Given the description of an element on the screen output the (x, y) to click on. 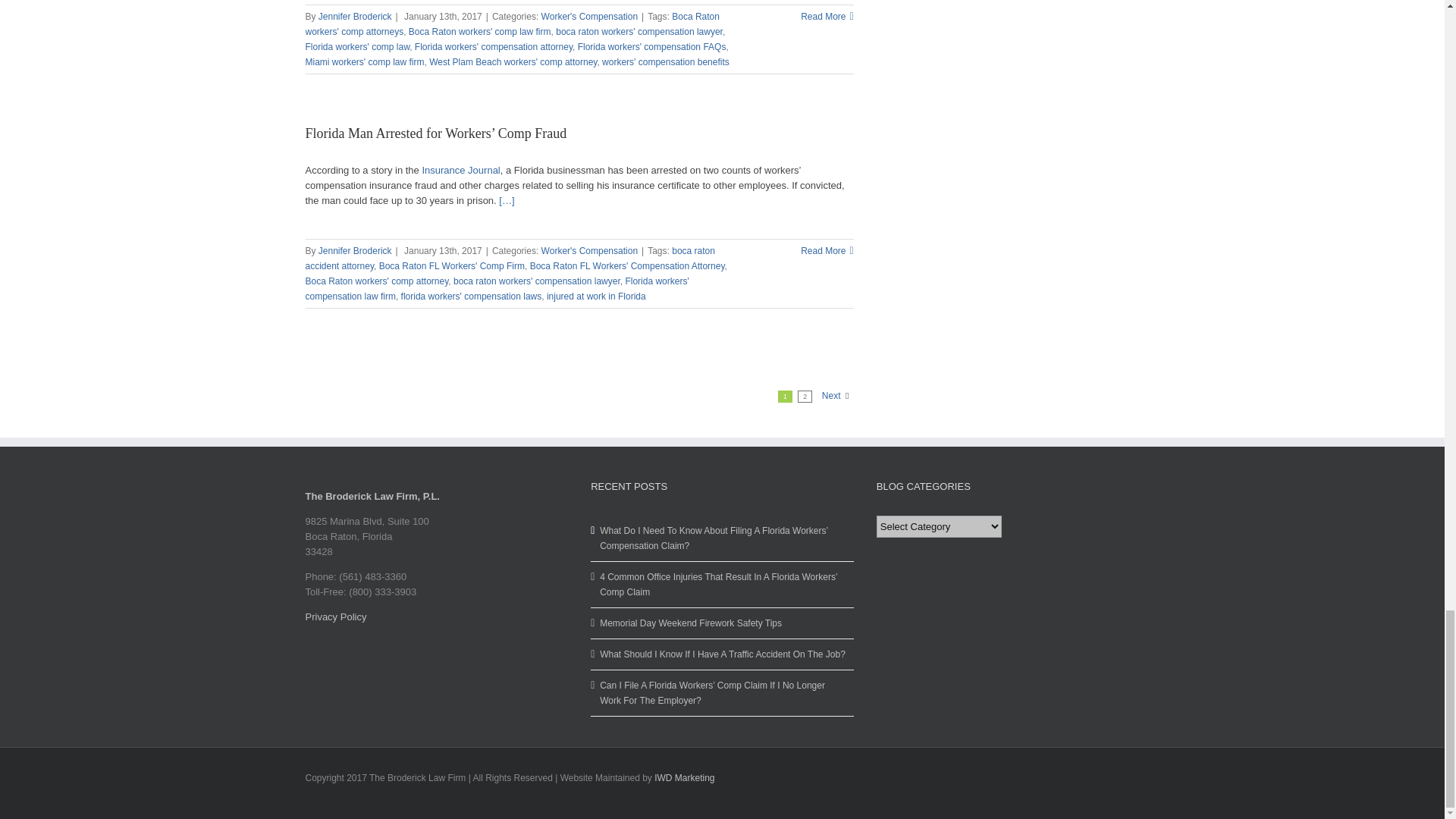
Posts by Jennifer Broderick (354, 16)
Posts by Jennifer Broderick (354, 250)
